Given the description of an element on the screen output the (x, y) to click on. 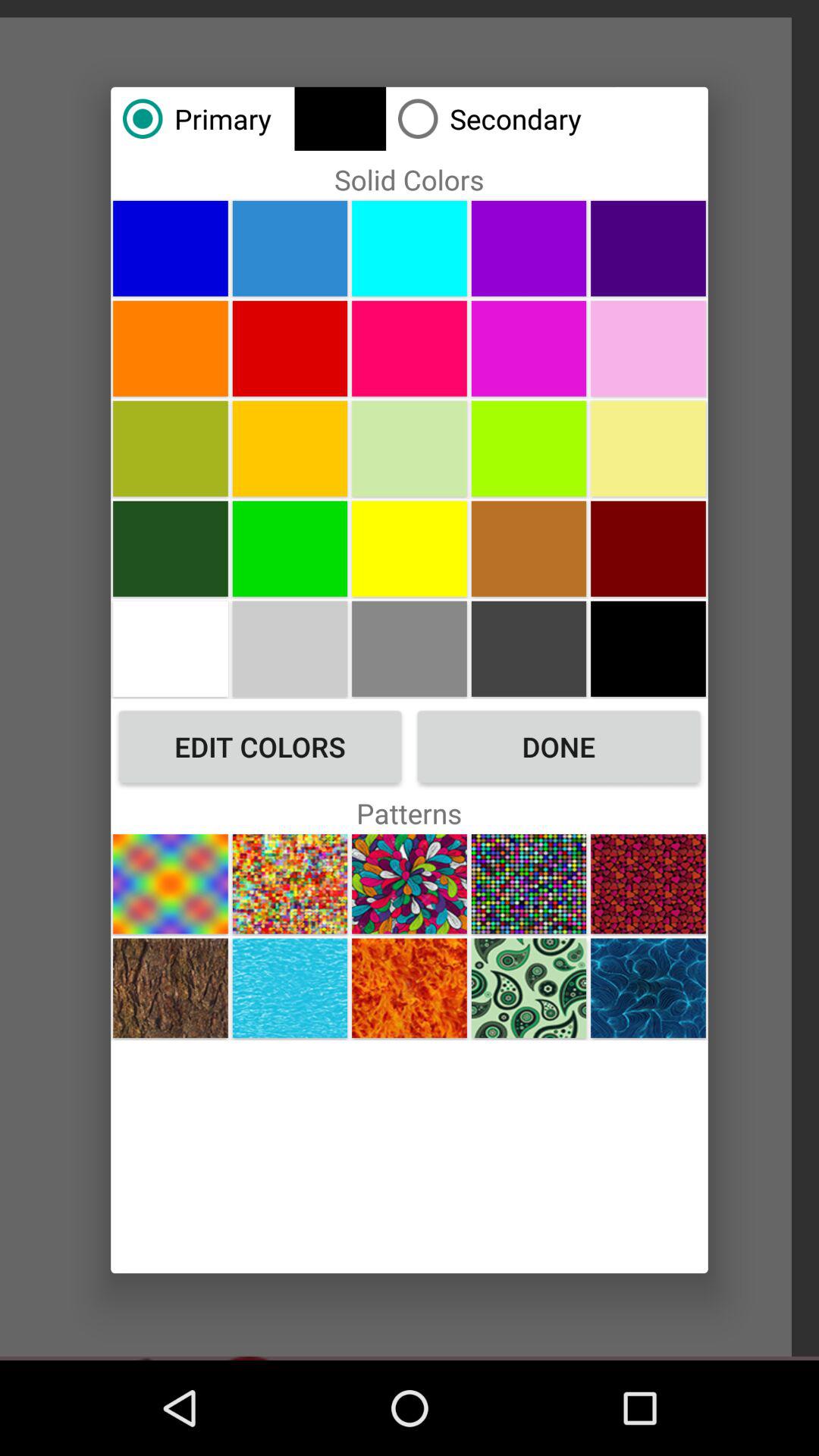
orange box flashing for selecting theme (647, 987)
